Given the description of an element on the screen output the (x, y) to click on. 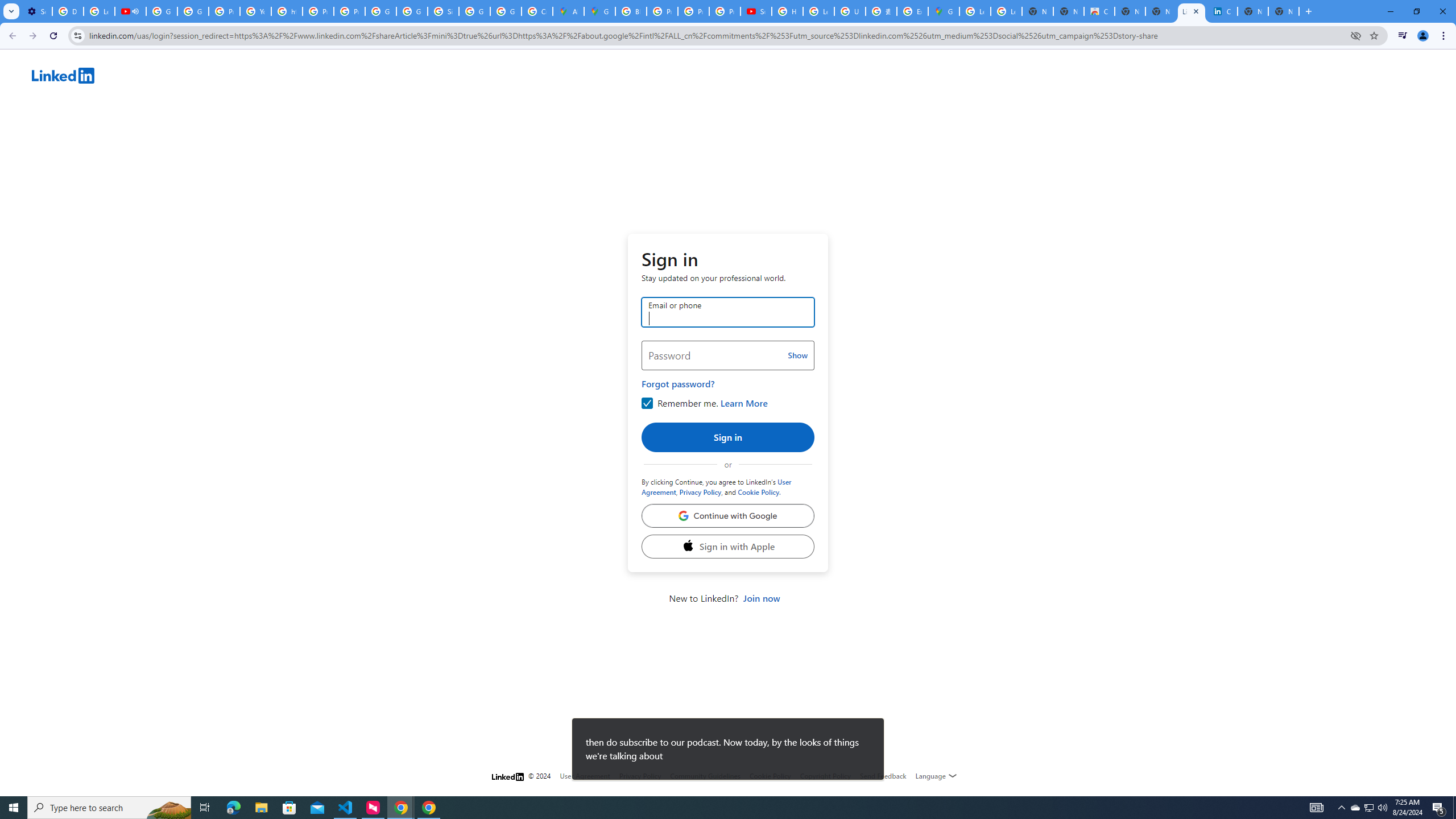
Blogger Policies and Guidelines - Transparency Center (631, 11)
Email or phone (727, 311)
LinkedIn (744, 76)
Continue with Google (727, 515)
Language (935, 775)
Password (727, 354)
Privacy Help Center - Policies Help (223, 11)
AutomationID: feedback-request (882, 775)
